Given the description of an element on the screen output the (x, y) to click on. 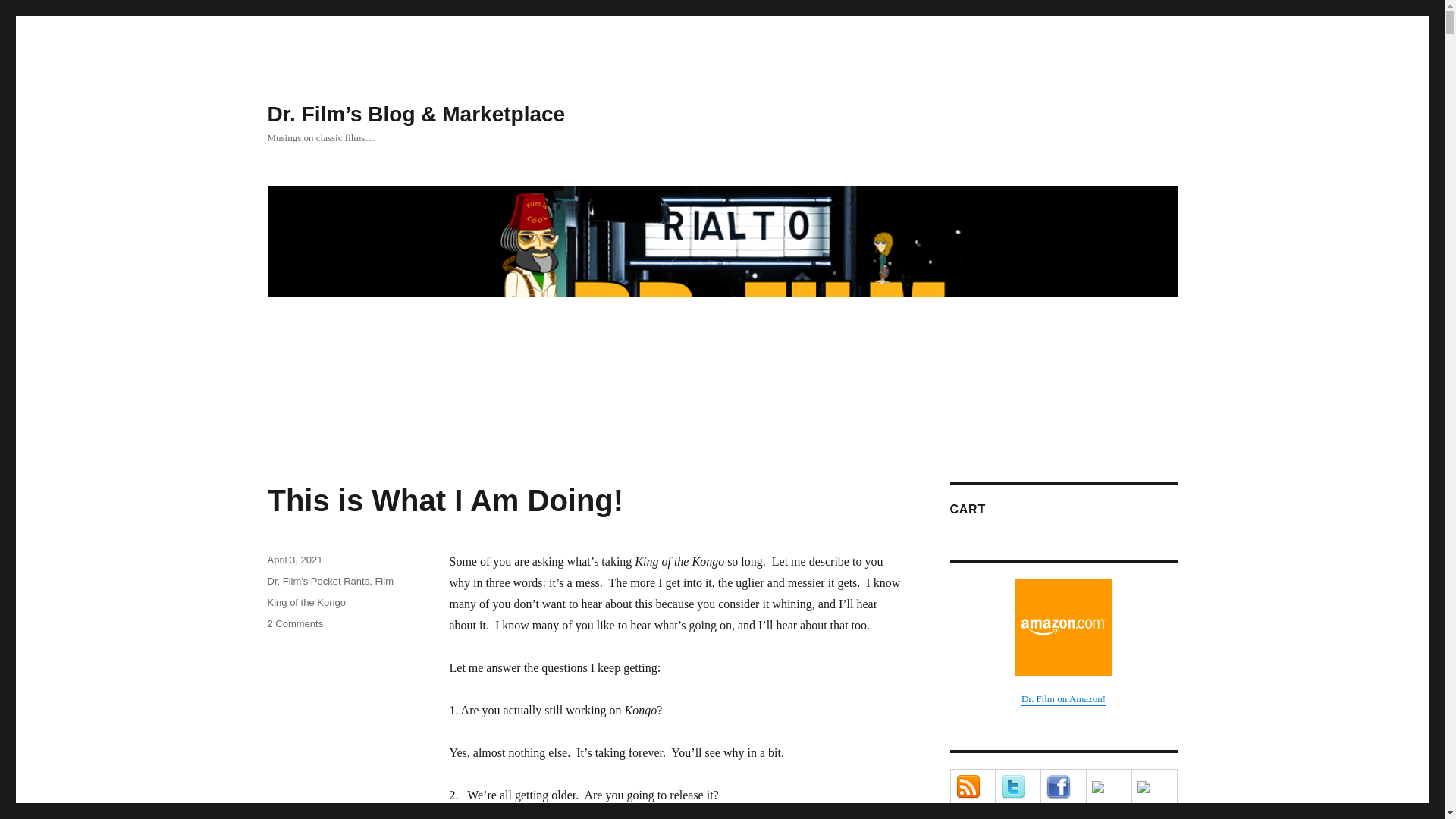
Dr. Film's Pocket Rants (317, 581)
April 3, 2021 (294, 623)
King of the Kongo (293, 559)
Film (305, 602)
This is What I Am Doing! (383, 581)
